Given the description of an element on the screen output the (x, y) to click on. 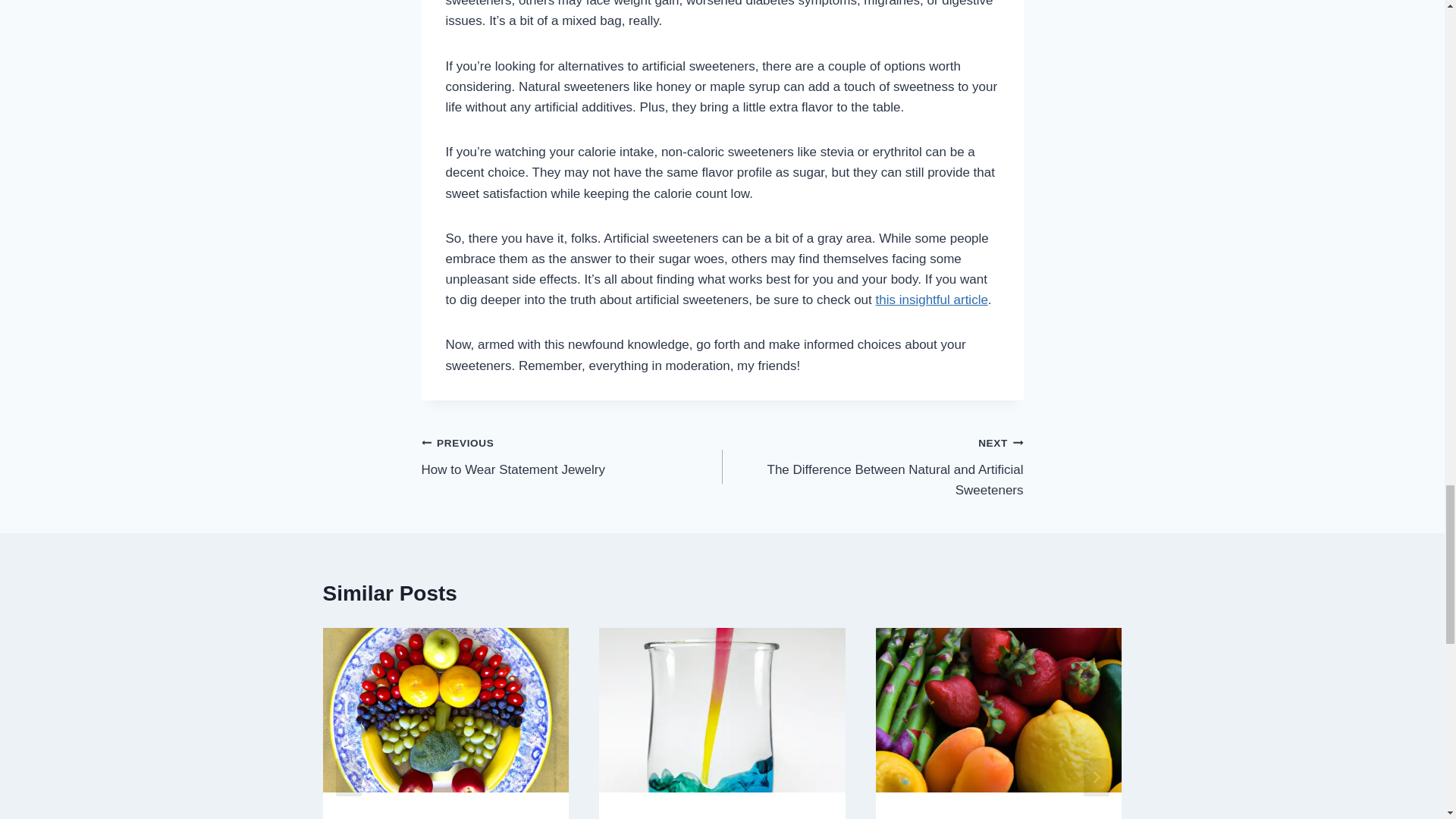
this insightful article (572, 455)
